Given the description of an element on the screen output the (x, y) to click on. 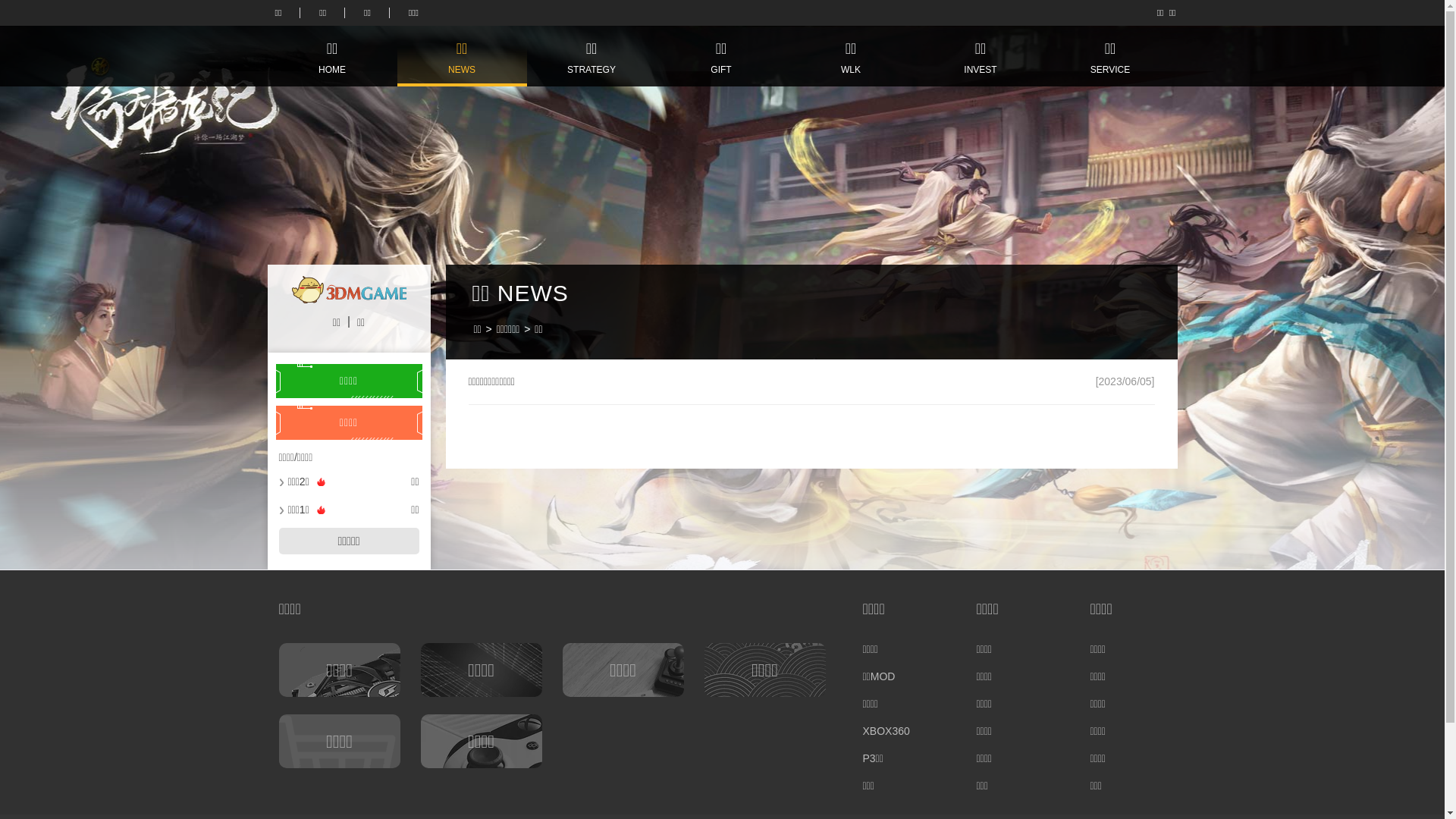
XBOX360 Element type: text (900, 730)
